Given the description of an element on the screen output the (x, y) to click on. 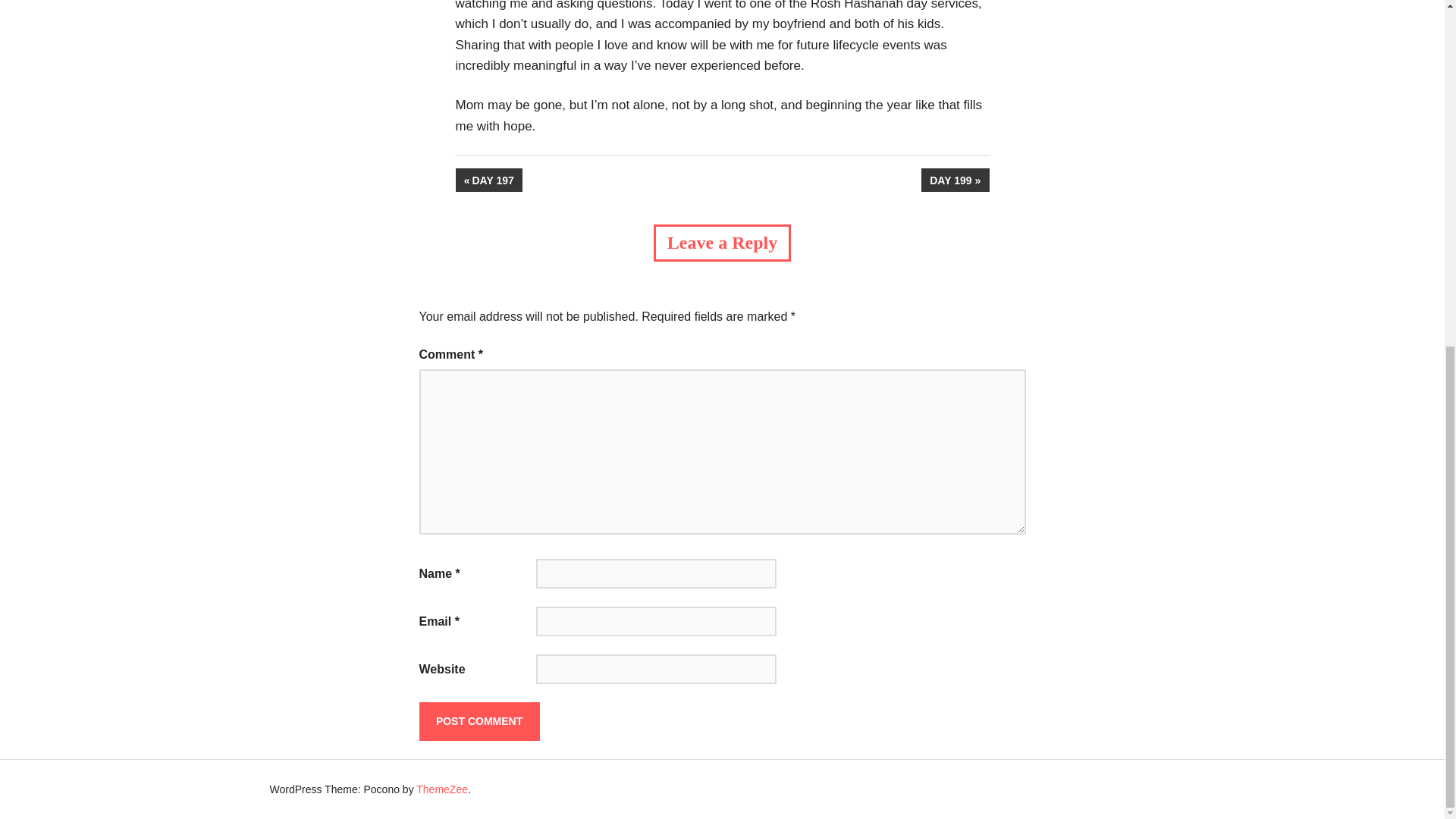
Post Comment (478, 720)
Post Comment (478, 720)
ThemeZee (954, 179)
